Given the description of an element on the screen output the (x, y) to click on. 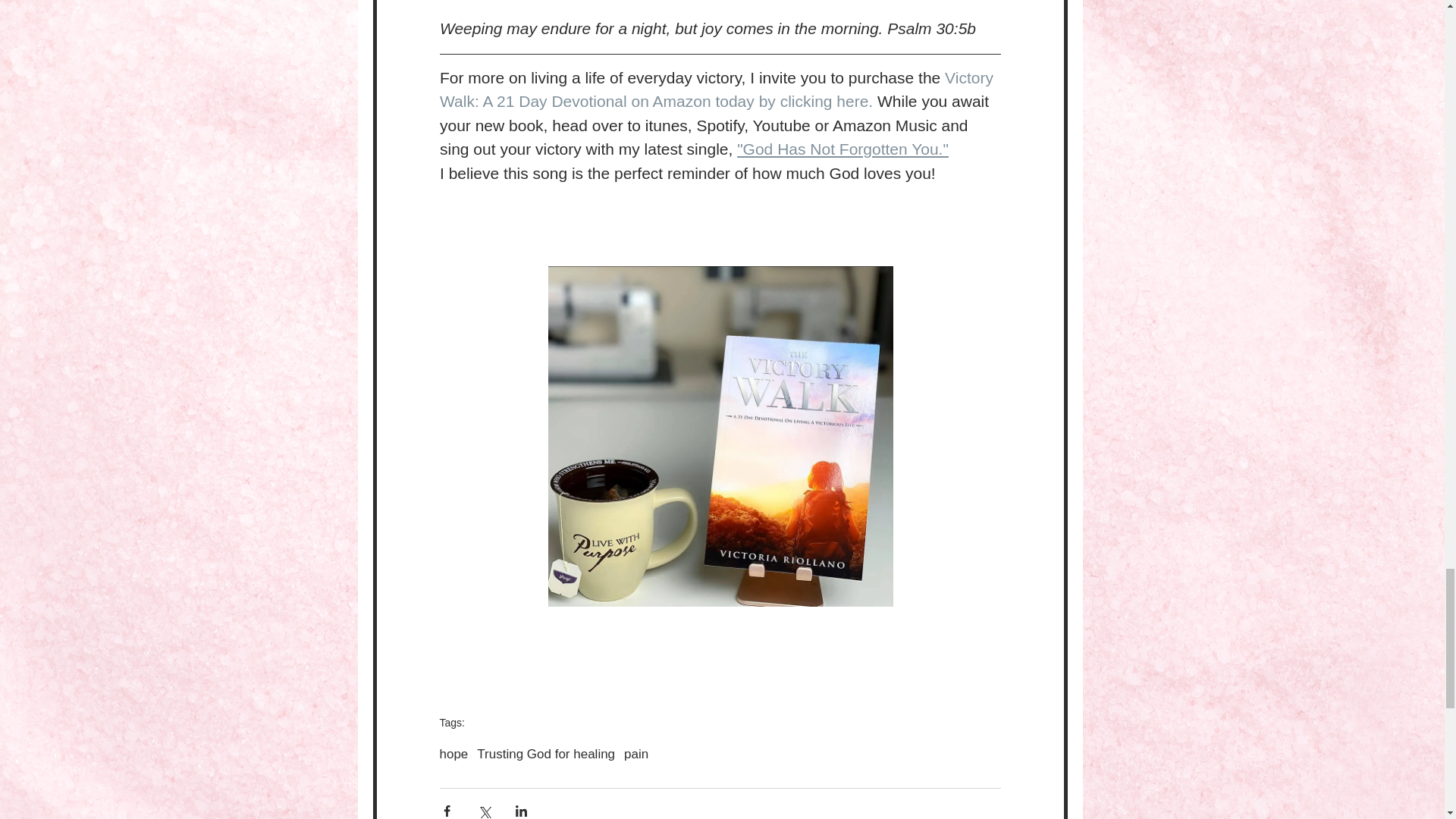
pain (635, 754)
"God Has Not Forgotten You." (842, 149)
hope (453, 754)
Trusting God for healing (545, 754)
